Given the description of an element on the screen output the (x, y) to click on. 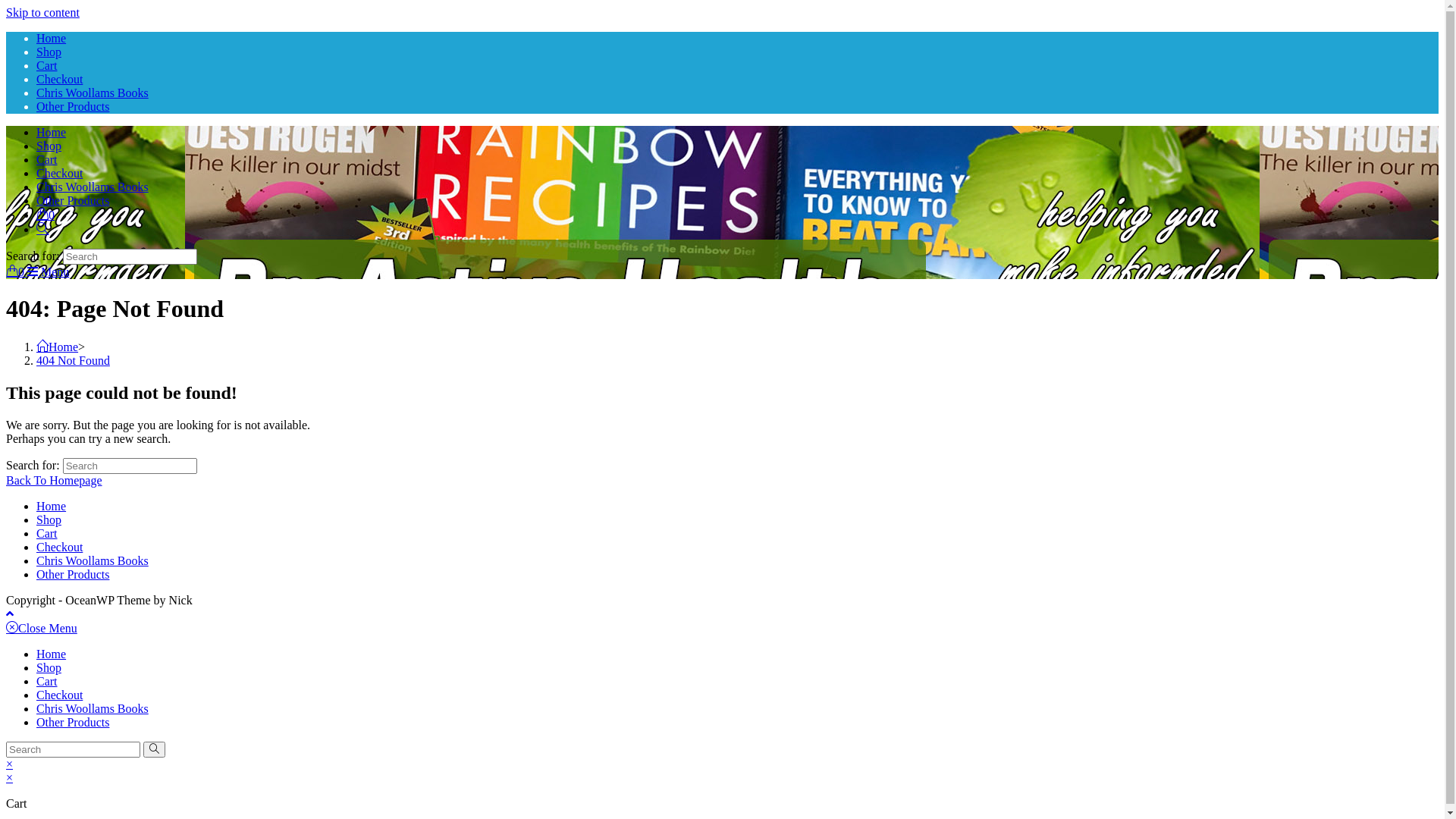
Home Element type: text (50, 37)
Chris Woollams Books Element type: text (92, 186)
Chris Woollams Books Element type: text (92, 708)
Checkout Element type: text (59, 546)
Menu Element type: text (48, 271)
0 Element type: text (16, 271)
Home Element type: text (57, 346)
Chris Woollams Books Element type: text (92, 92)
Skip to content Element type: text (42, 12)
Back To Homepage Element type: text (54, 479)
Other Products Element type: text (72, 573)
Chris Woollams Books Element type: text (92, 560)
Checkout Element type: text (59, 78)
0 Element type: text (45, 214)
Other Products Element type: text (72, 721)
Checkout Element type: text (59, 172)
Shop Element type: text (48, 51)
Shop Element type: text (48, 519)
Home Element type: text (50, 505)
Shop Element type: text (48, 145)
Home Element type: text (50, 131)
Other Products Element type: text (72, 200)
Close Menu Element type: text (41, 627)
Shop Element type: text (48, 667)
Other Products Element type: text (72, 106)
Checkout Element type: text (59, 694)
Cart Element type: text (46, 65)
Cart Element type: text (46, 680)
Cart Element type: text (46, 159)
404 Not Found Element type: text (72, 360)
Home Element type: text (50, 653)
Cart Element type: text (46, 533)
